Given the description of an element on the screen output the (x, y) to click on. 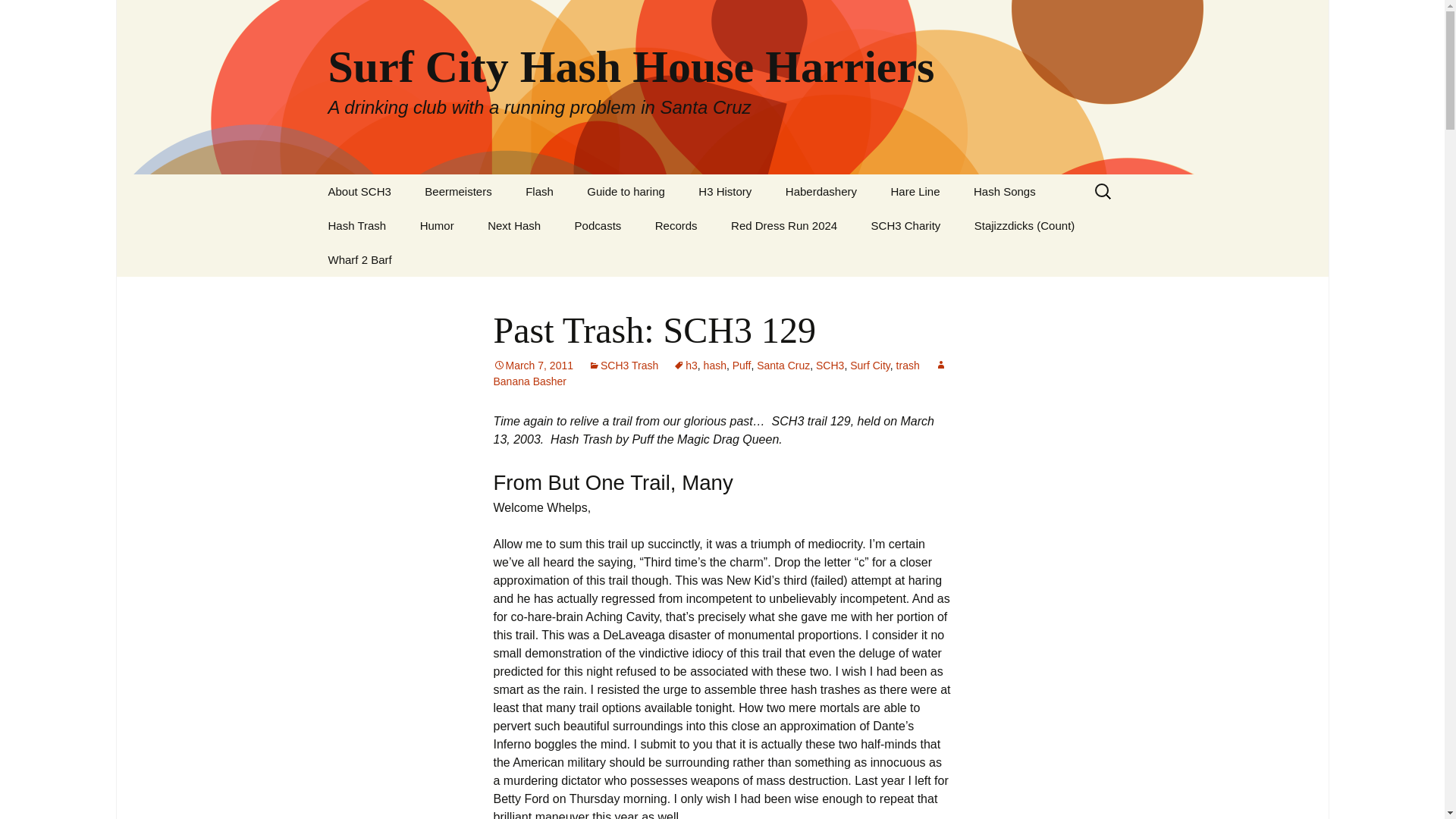
H3 History (724, 191)
Surf City (869, 365)
Banana Basher (719, 373)
Hash Songs (1004, 191)
Records (676, 225)
View all posts by Banana Basher (719, 373)
trash (908, 365)
Permalink to Past Trash: SCH3 129 (533, 365)
hash (714, 365)
SCH3 Charity (906, 225)
Santa Cruz (783, 365)
h3 (684, 365)
About SCH3 (359, 191)
